Given the description of an element on the screen output the (x, y) to click on. 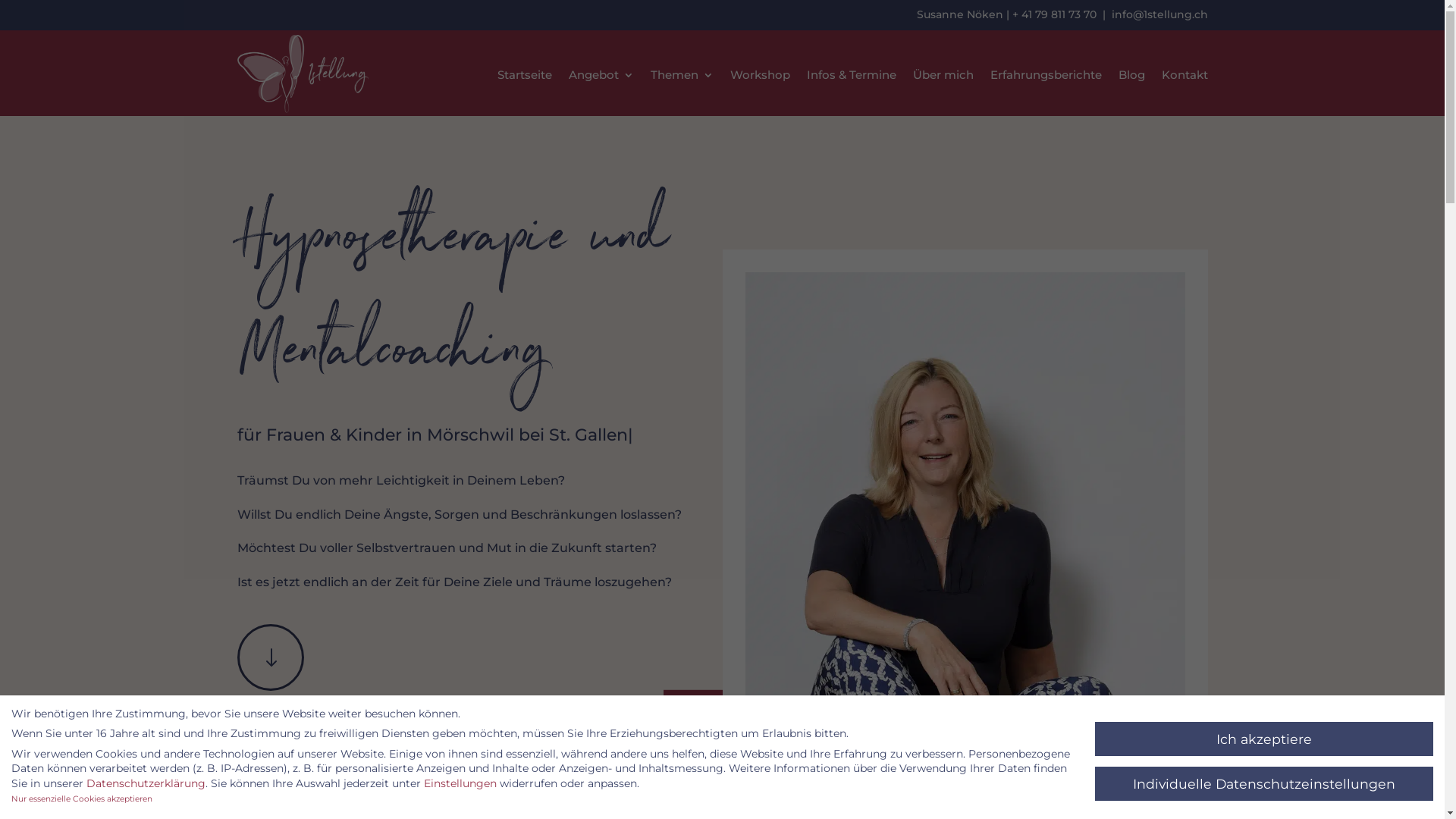
Startseite Element type: text (524, 75)
Individuelle Datenschutzeinstellungen Element type: text (1264, 783)
Ich akzeptiere Element type: text (1264, 738)
Infos & Termine Element type: text (851, 75)
Kontakt Element type: text (1184, 75)
Erfahrungsberichte Element type: text (1045, 75)
Workshop Element type: text (759, 75)
Themen Element type: text (681, 75)
+ 41 79 811 73 70 Element type: text (1053, 14)
Angebot Element type: text (600, 75)
info@1stellung.ch Element type: text (1158, 14)
Blog Element type: text (1130, 75)
Nur essenzielle Cookies akzeptieren Element type: text (81, 798)
TERMIN BUCHEN Element type: text (736, 719)
Einstellungen Element type: text (459, 783)
